Given the description of an element on the screen output the (x, y) to click on. 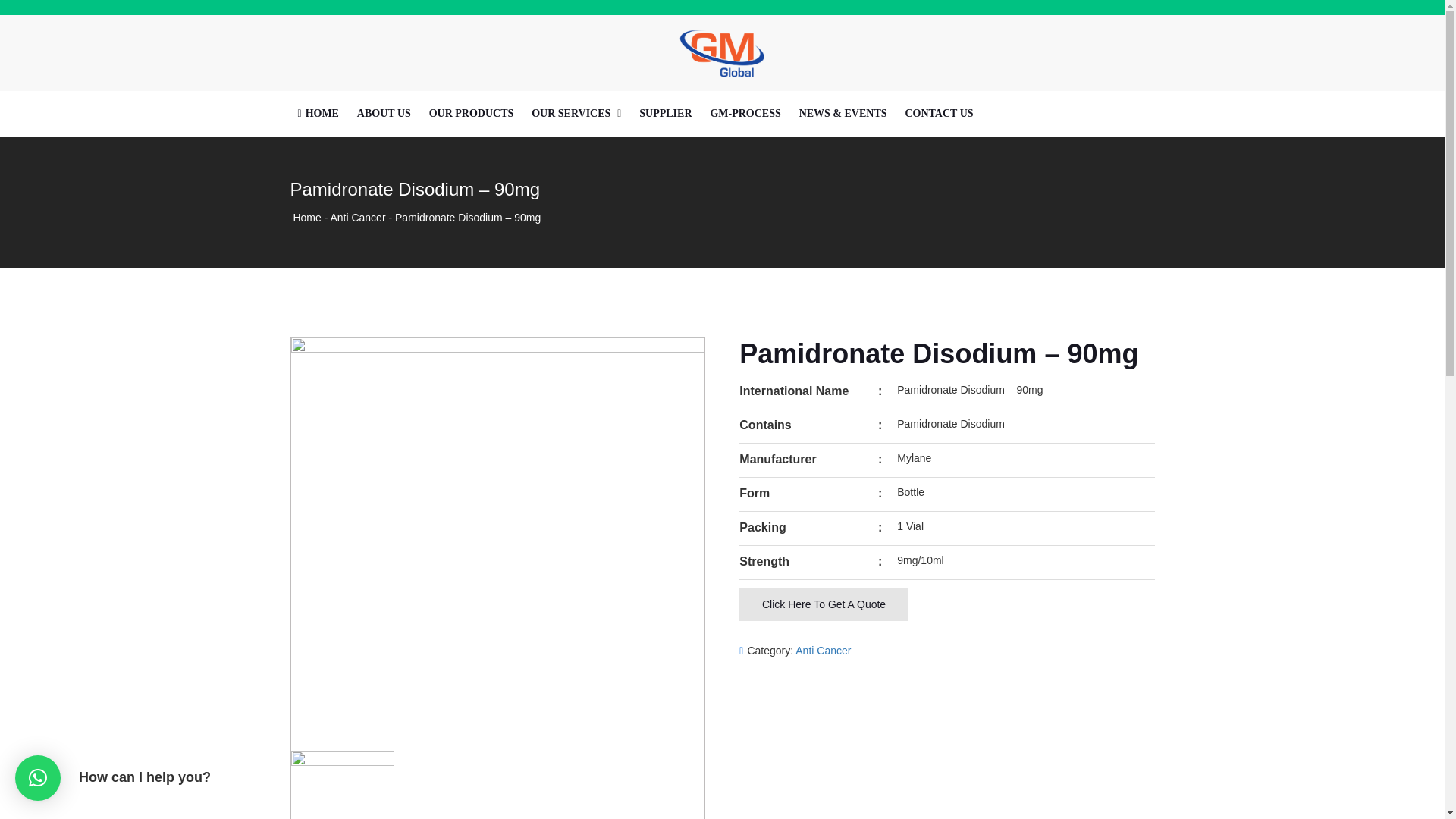
ABOUT US (383, 113)
GM-PROCESS (745, 113)
SUPPLIER (665, 113)
HOME (317, 113)
CONTACT US (938, 113)
OUR SERVICES (570, 113)
OUR PRODUCTS (471, 113)
